Given the description of an element on the screen output the (x, y) to click on. 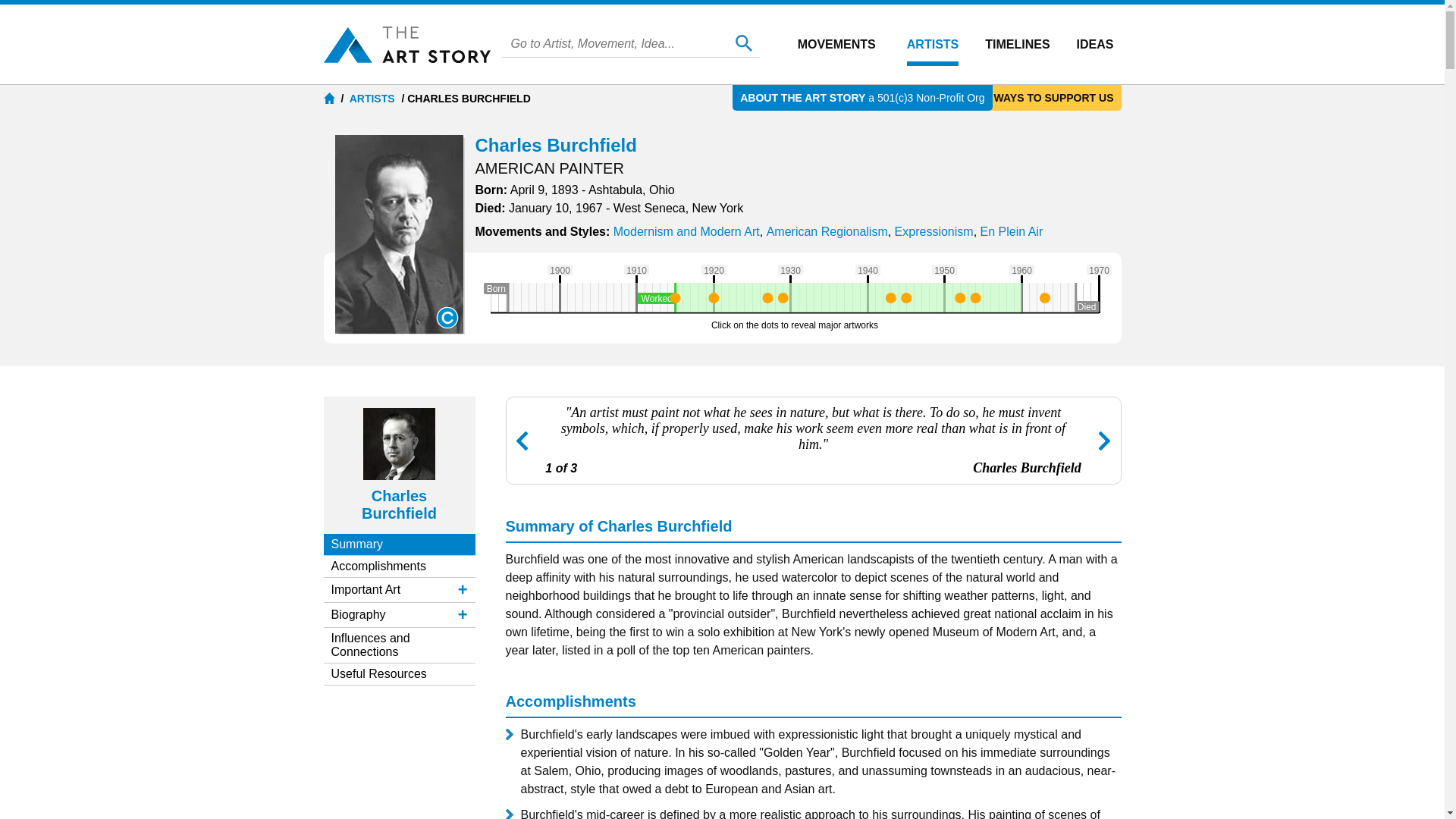
Modernism and Modern Art (686, 231)
En Plein Air (1011, 231)
American Regionalism (827, 231)
The Art Story (406, 43)
ARTISTS (932, 43)
TIMELINES (1017, 43)
IDEAS (1095, 43)
Expressionism (934, 231)
MOVEMENTS (836, 43)
ARTISTS (373, 98)
